Given the description of an element on the screen output the (x, y) to click on. 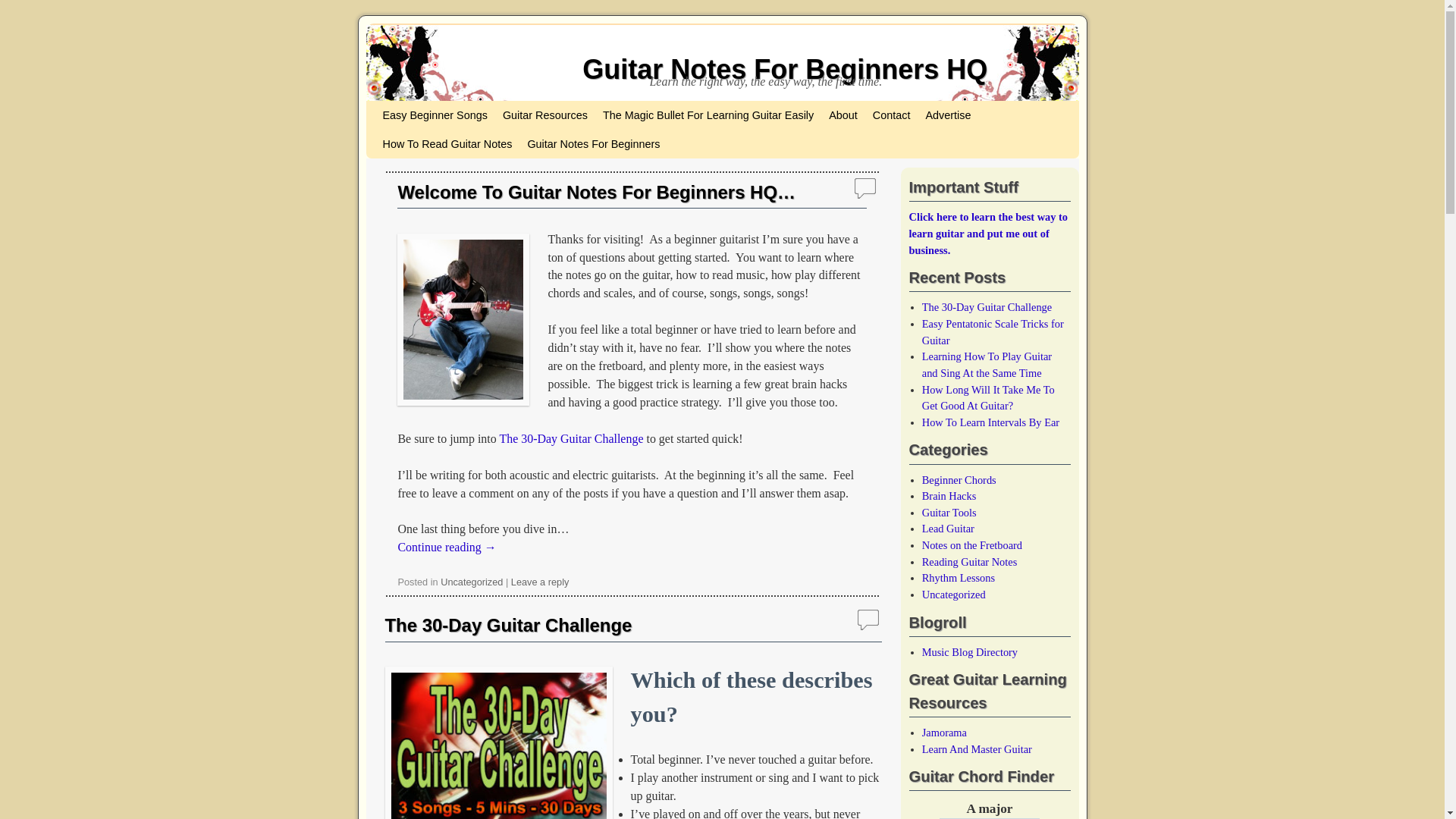
Uncategorized (471, 582)
The Magic Bullet For Learning Guitar Easily (708, 114)
Skip to primary content (408, 107)
Advertise (947, 114)
About (842, 114)
The 30-Day Guitar Challenge (571, 438)
How To Read Guitar Notes (446, 143)
The 30-Day Guitar Challenge (508, 625)
Skip to secondary content (412, 107)
Guitar Notes For Beginners (592, 143)
